Given the description of an element on the screen output the (x, y) to click on. 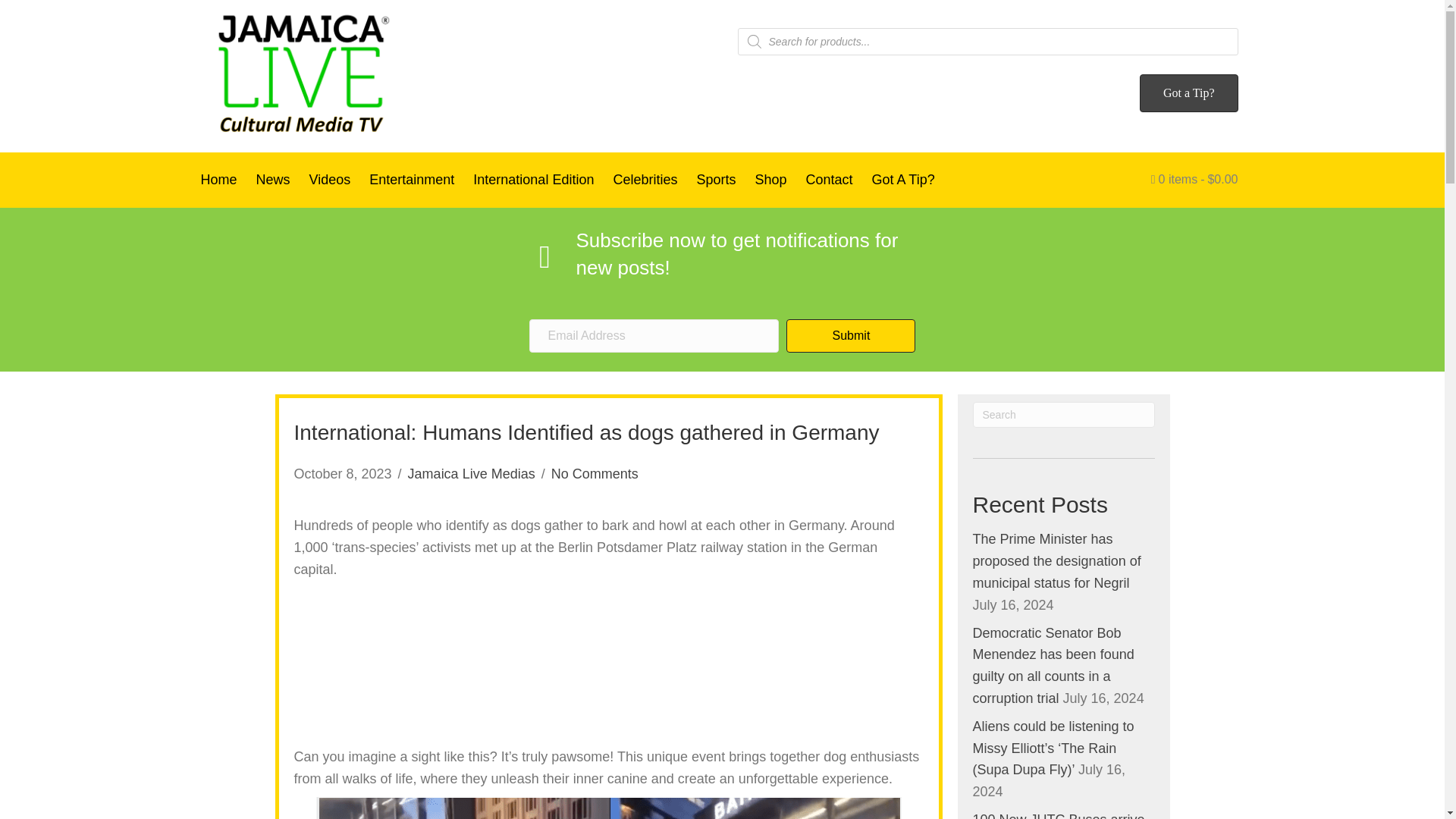
No Comments (595, 473)
Advertisement (608, 664)
Jamaica Live Logo Registered (301, 76)
Celebrities (644, 180)
Shop (770, 180)
Contact (828, 180)
Jamaica Live Medias (471, 473)
Home (218, 180)
Got a Tip? (1189, 93)
International Edition (533, 180)
Sports (715, 180)
Entertainment (411, 180)
Got A Tip? (903, 180)
